Given the description of an element on the screen output the (x, y) to click on. 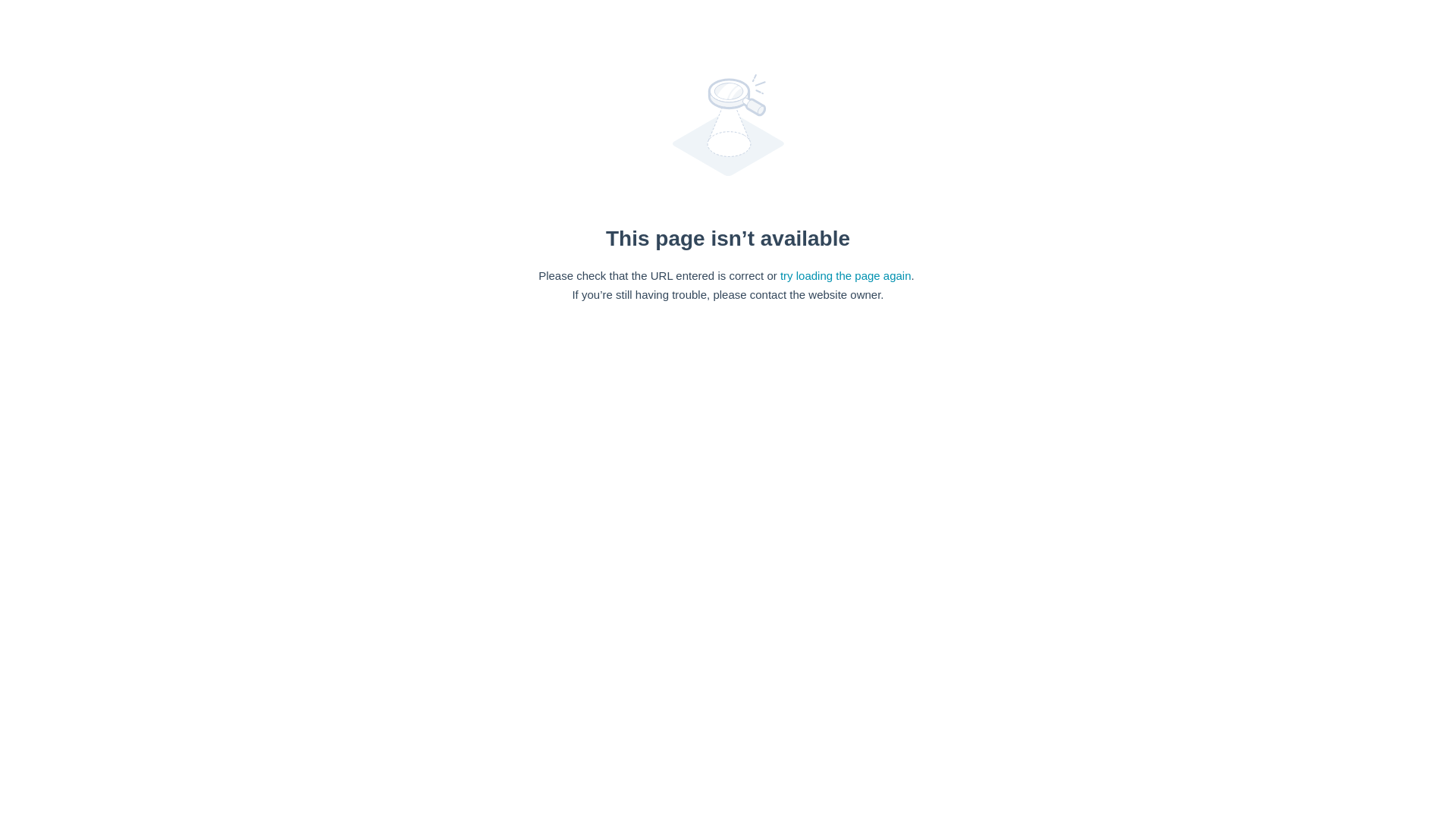
try loading the page again Element type: text (845, 274)
